Given the description of an element on the screen output the (x, y) to click on. 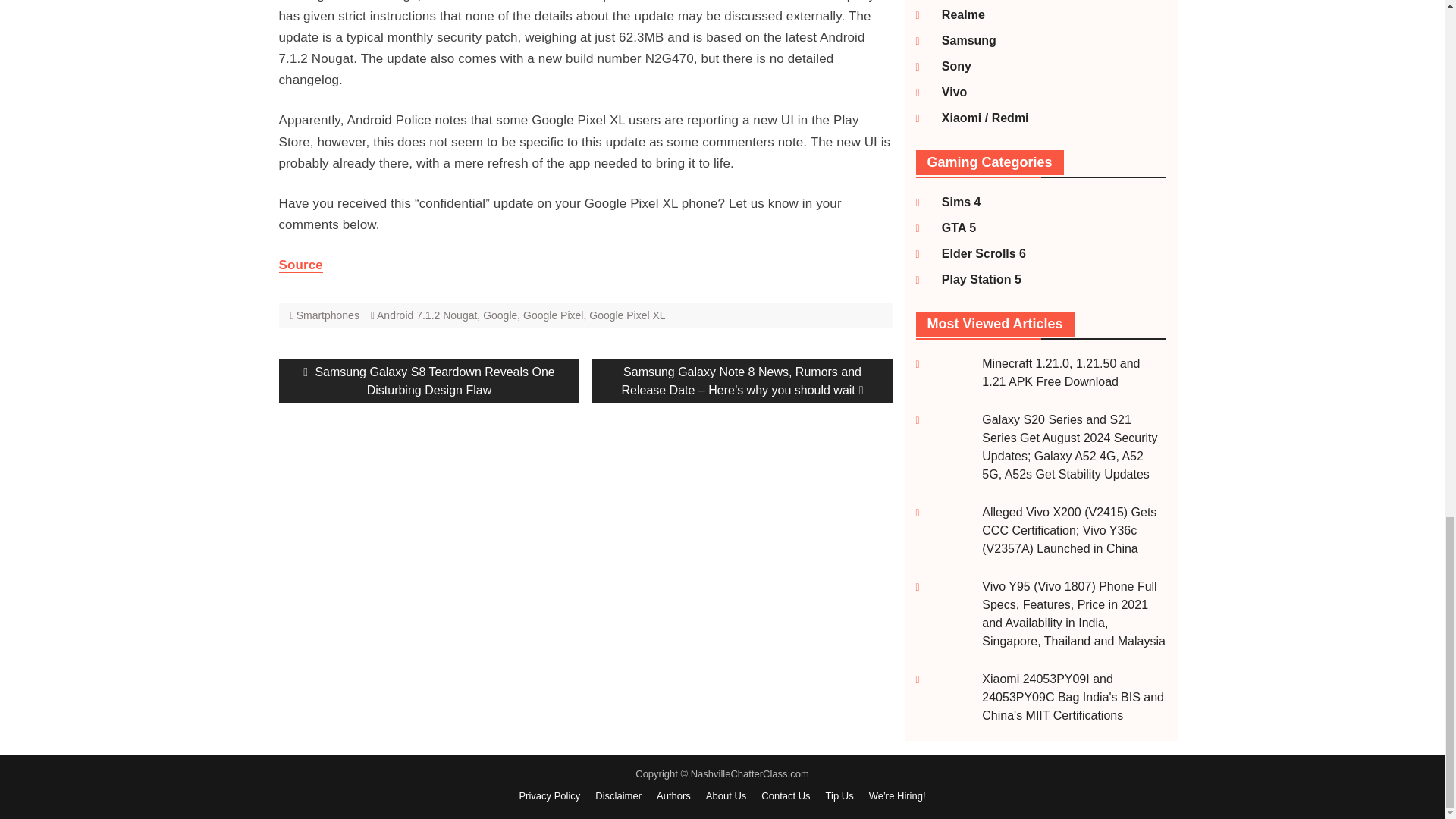
Source (301, 264)
Google Pixel XL (627, 315)
Google Pixel (552, 315)
Smartphones (328, 315)
Minecraft 1.21.0, 1.21.50 and 1.21 APK Free Download (1060, 372)
Android 7.1.2 Nougat (427, 315)
Google (499, 315)
